Given the description of an element on the screen output the (x, y) to click on. 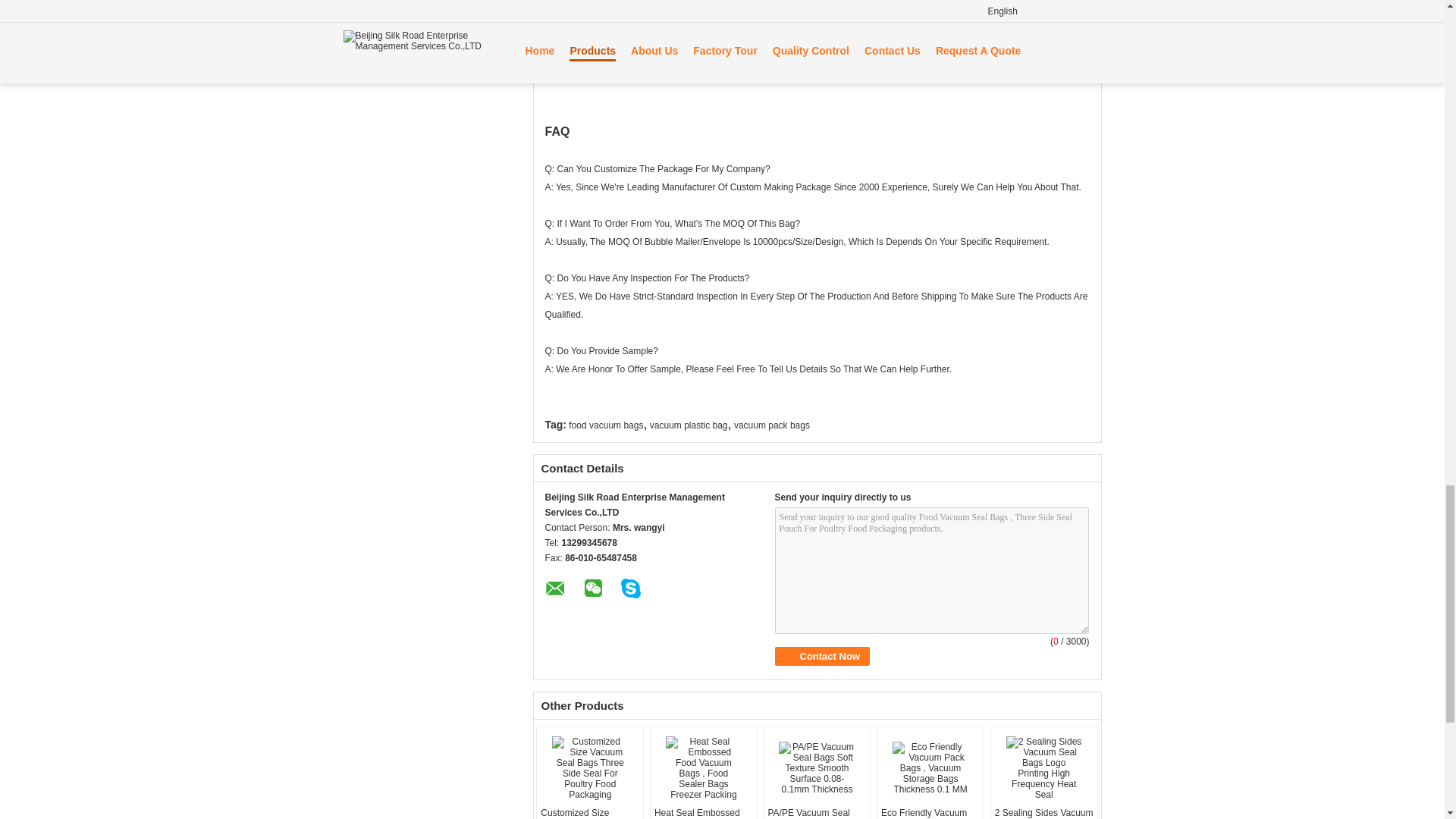
Contact Now (821, 656)
